Given the description of an element on the screen output the (x, y) to click on. 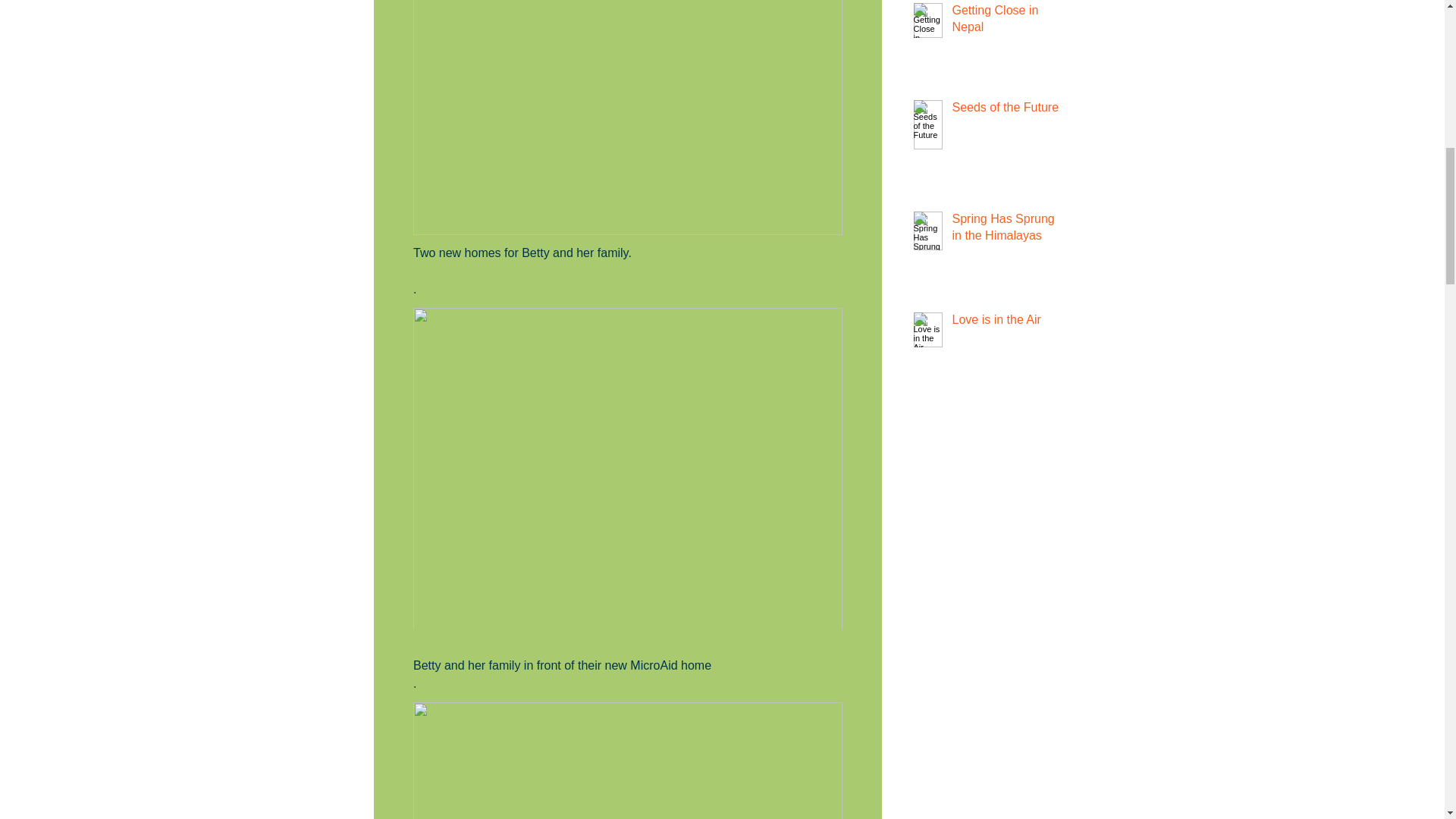
Love is in the Air (1006, 323)
Spring Has Sprung in the Himalayas (1006, 230)
Seeds of the Future (1006, 110)
Getting Close in Nepal (1006, 22)
